Given the description of an element on the screen output the (x, y) to click on. 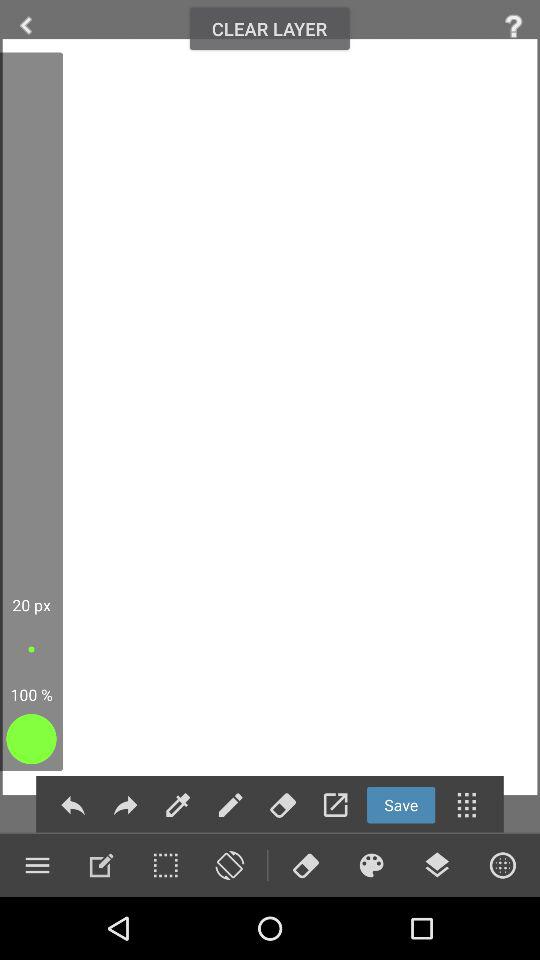
revert (125, 804)
